Given the description of an element on the screen output the (x, y) to click on. 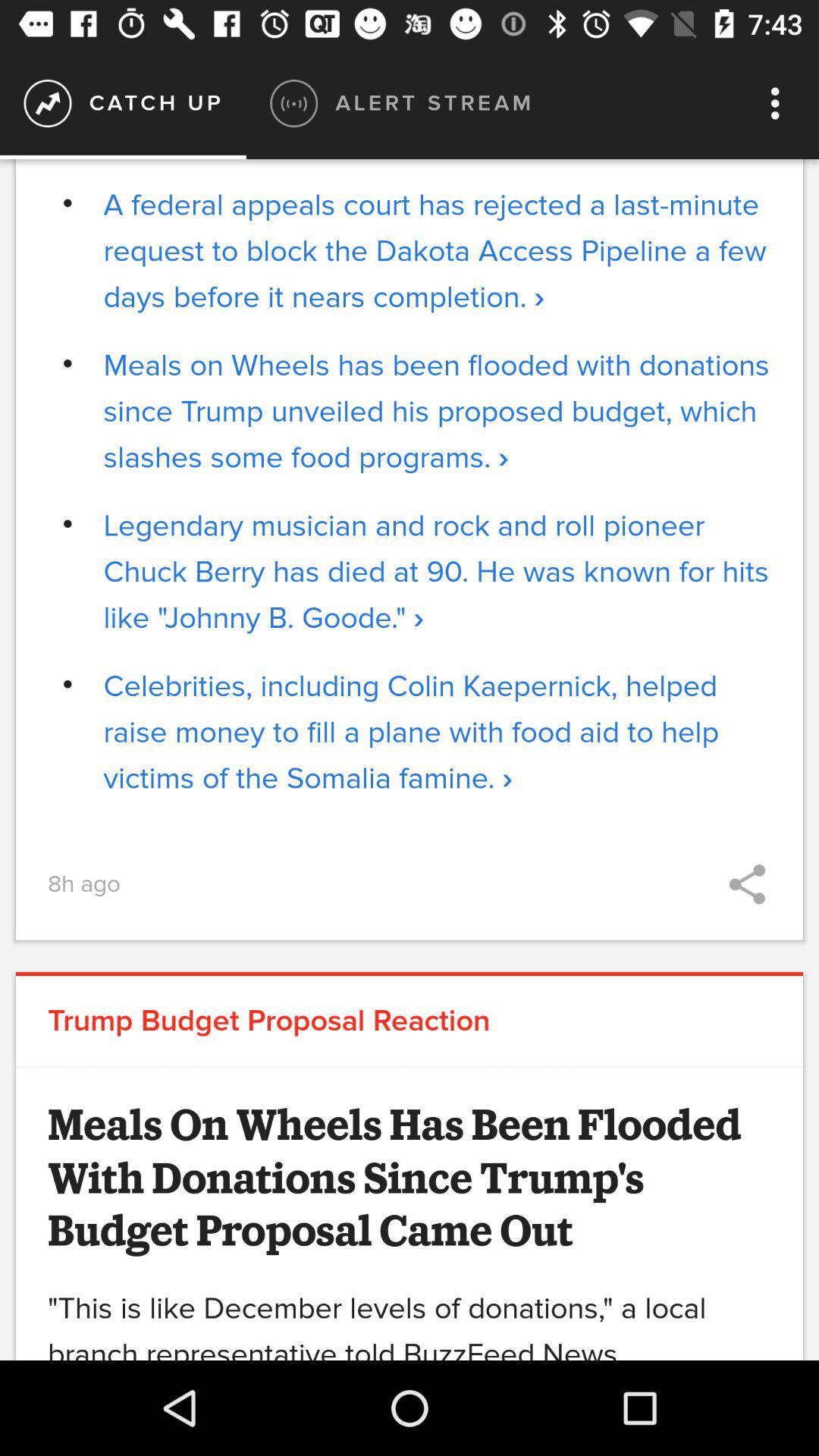
open icon above meals on wheels (437, 251)
